Given the description of an element on the screen output the (x, y) to click on. 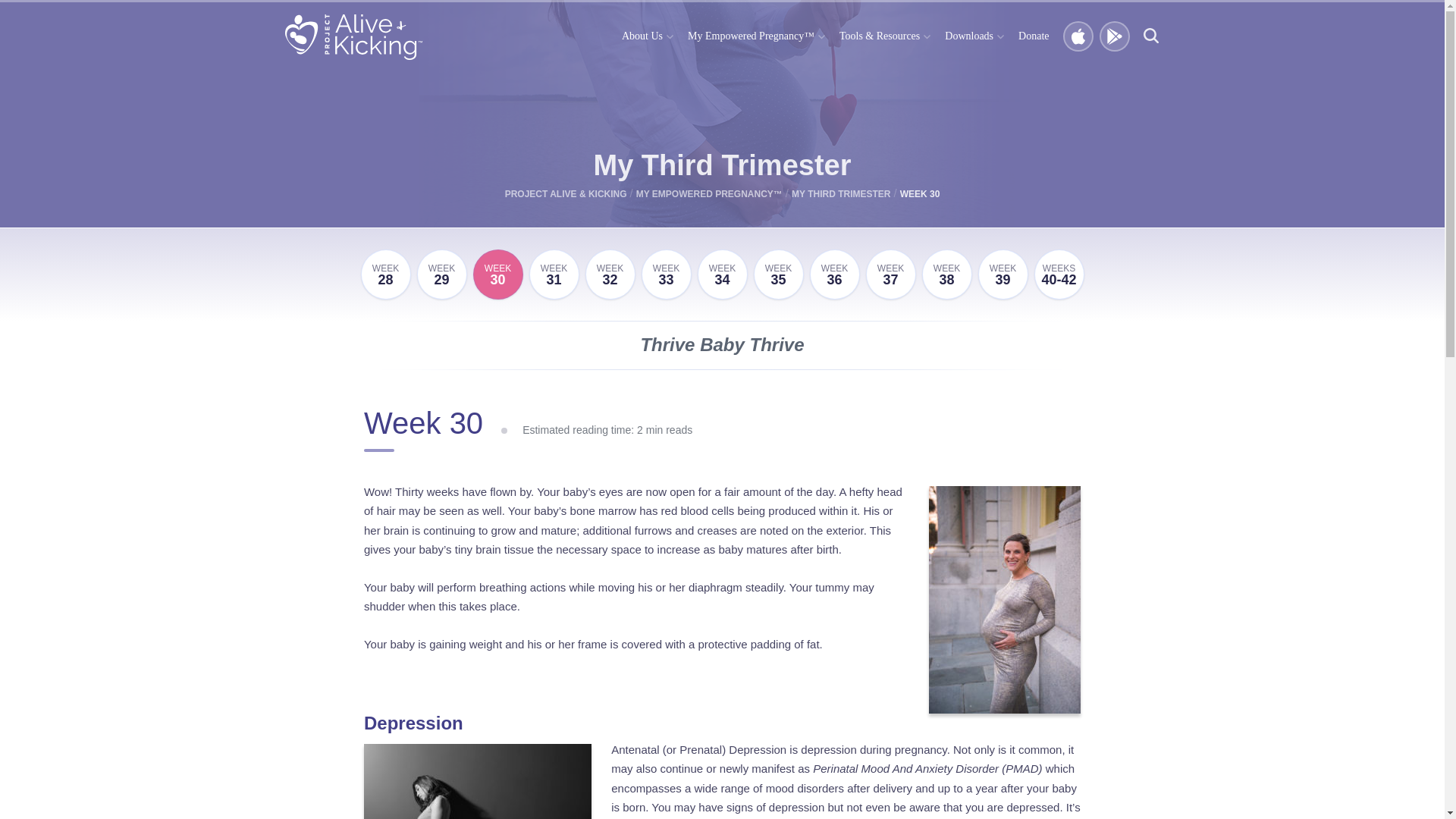
GET ANDROID APP (1114, 36)
Downloads (973, 36)
Donate (666, 274)
Go to My Third Trimester. (1033, 36)
GET IOS APP (553, 274)
MY THIRD TRIMESTER (840, 194)
